Given the description of an element on the screen output the (x, y) to click on. 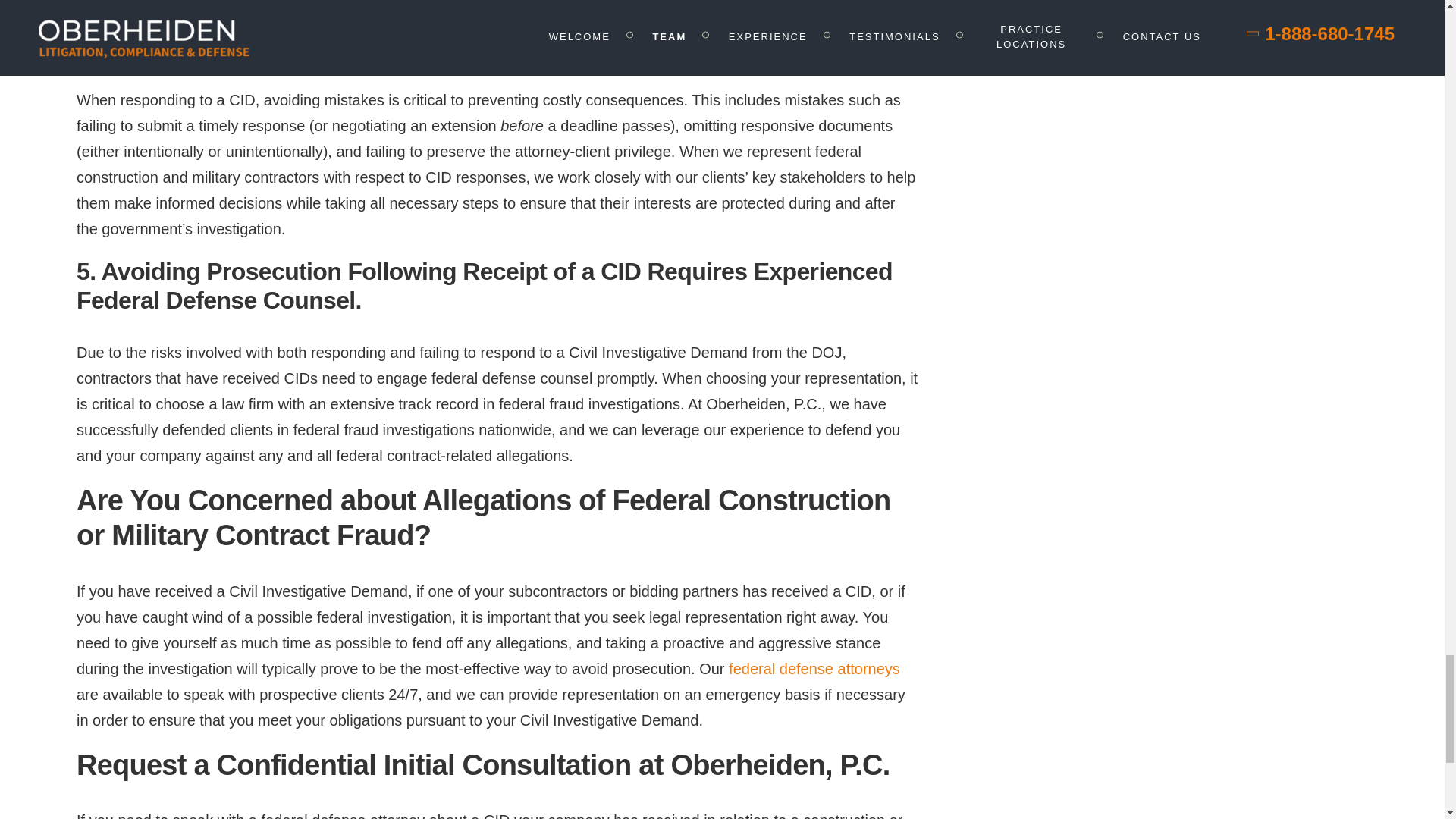
federal defense attorneys (814, 668)
